Given the description of an element on the screen output the (x, y) to click on. 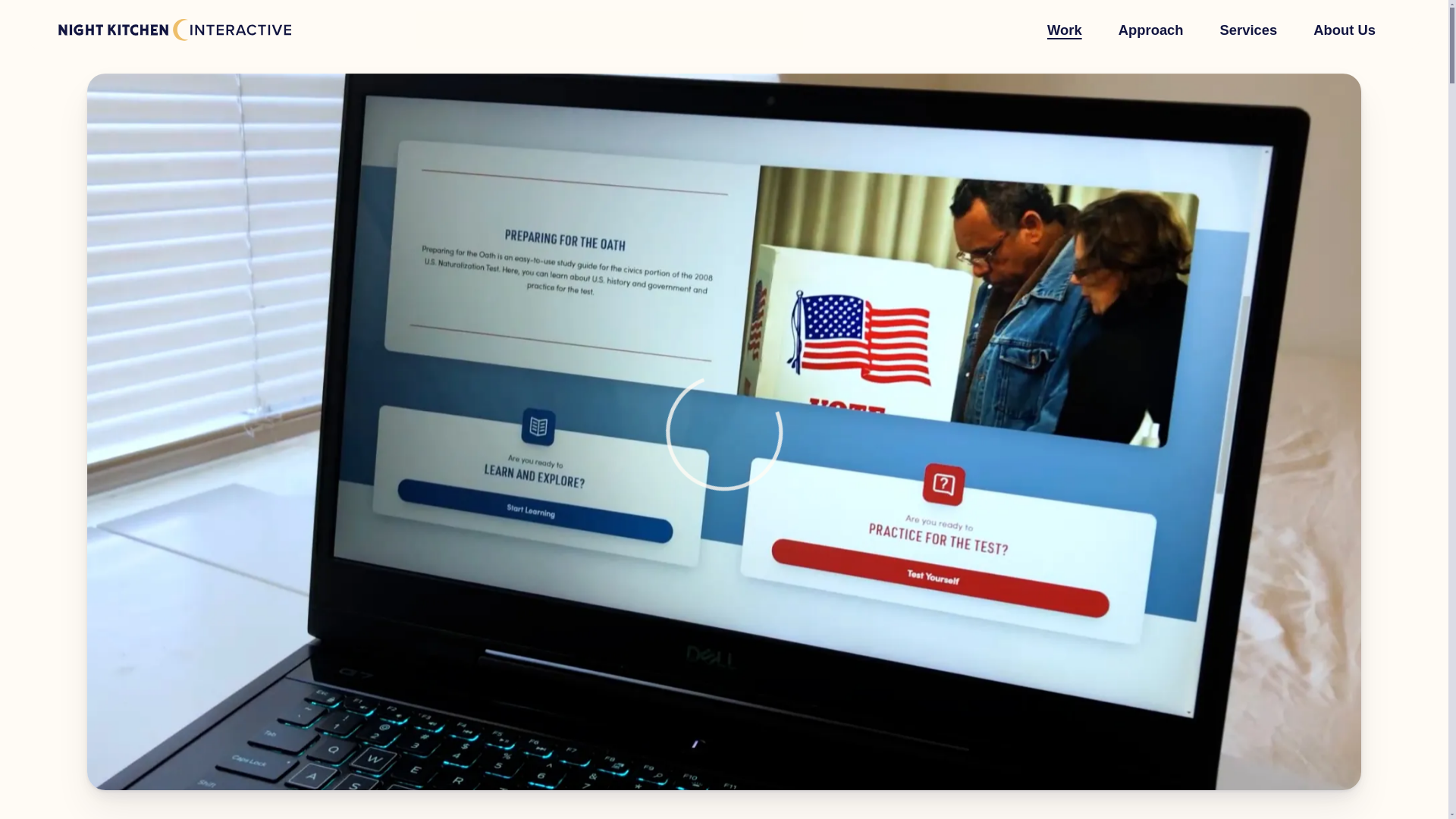
Approach (1150, 31)
Services (1249, 31)
Work (1063, 31)
About Us (1344, 31)
Night Kitchen Interactive Homepage (174, 29)
Skip to Content (2, 2)
